Given the description of an element on the screen output the (x, y) to click on. 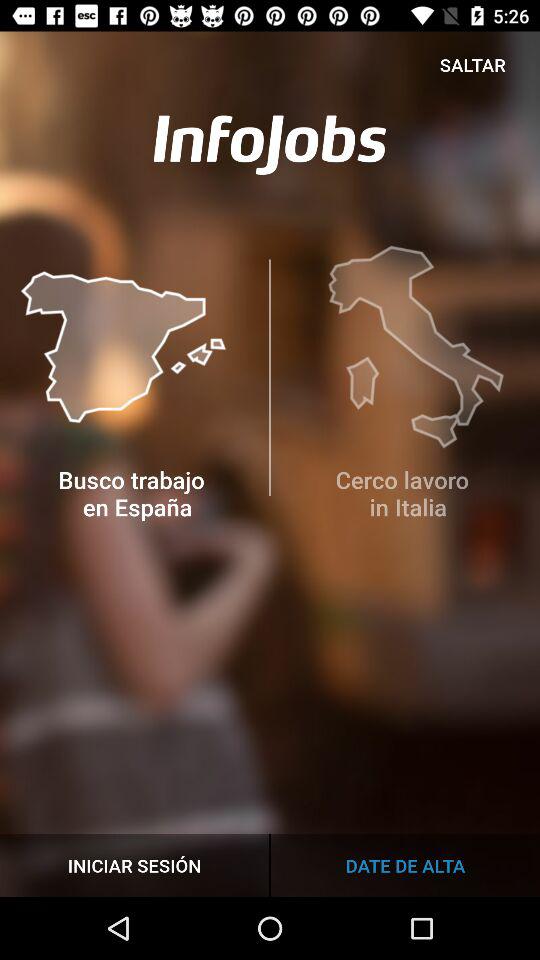
turn on date de alta icon (405, 864)
